Given the description of an element on the screen output the (x, y) to click on. 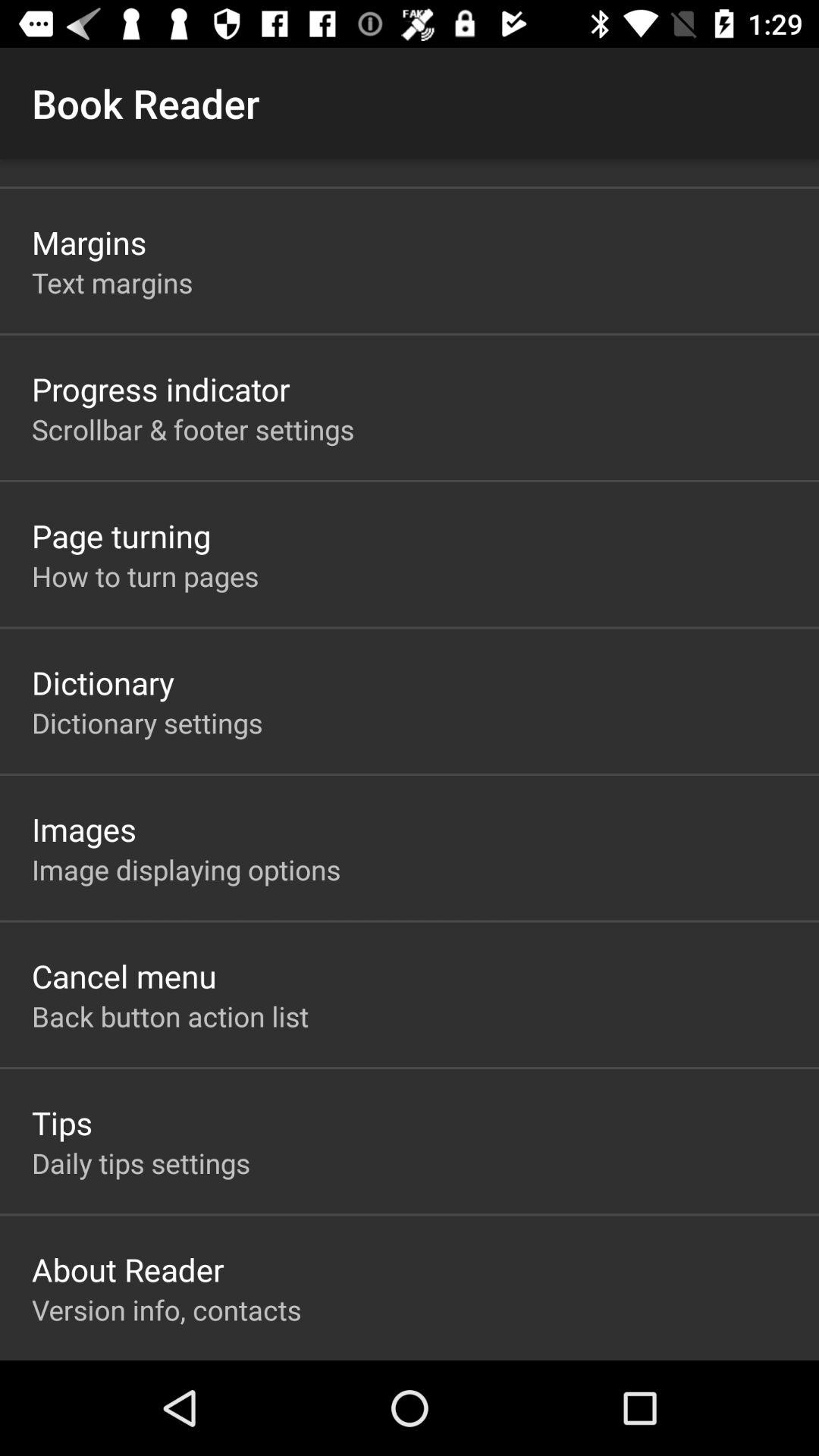
flip until page turning (121, 535)
